Given the description of an element on the screen output the (x, y) to click on. 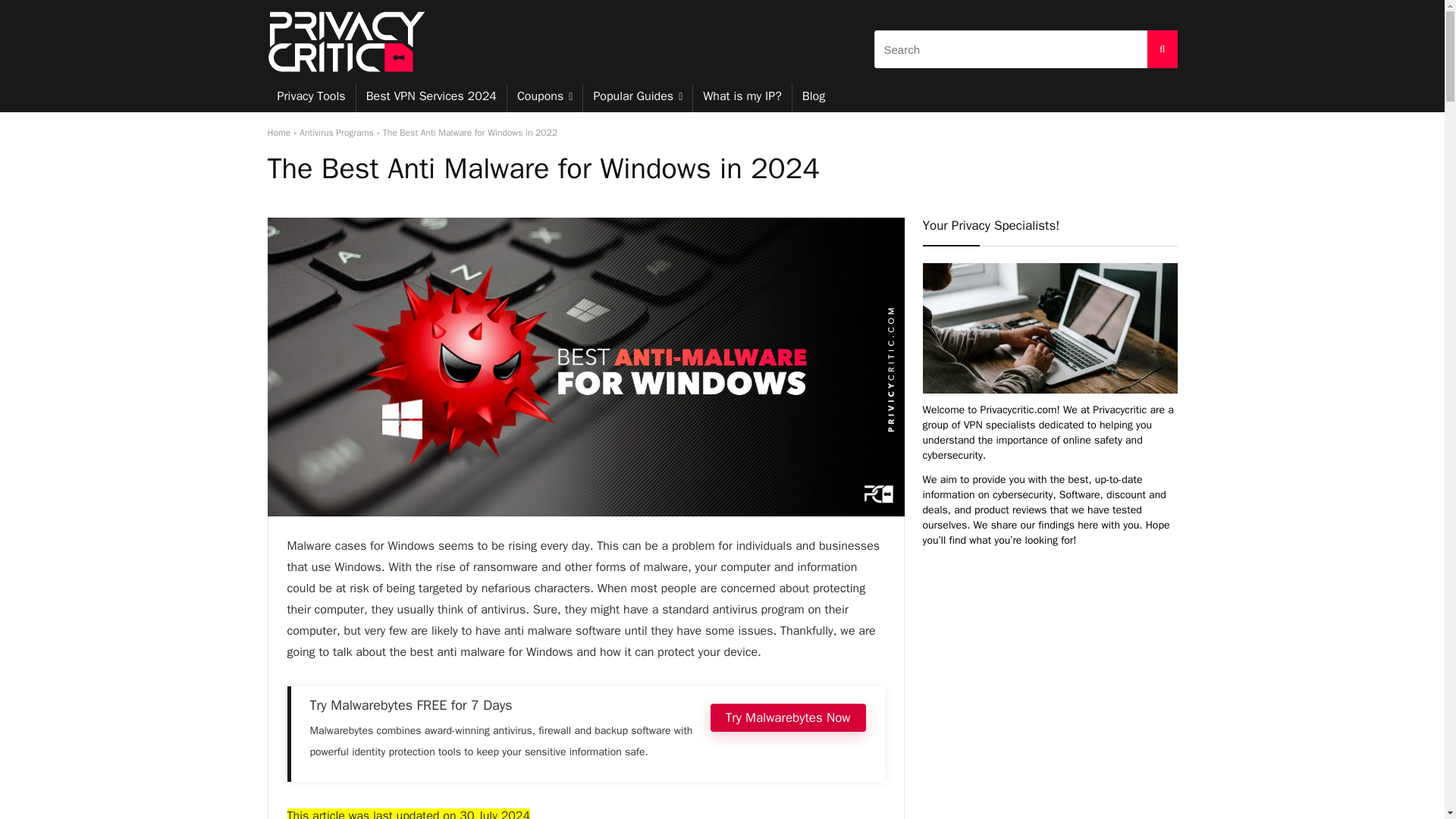
Privacy Tools (310, 97)
Best VPN Services 2024 (431, 97)
Coupons (544, 97)
Home (277, 132)
Popular Guides (638, 97)
Author (1048, 327)
Try Malwarebytes Now (788, 717)
Antivirus Programs (336, 132)
Blog (813, 97)
What is my IP? (742, 97)
